Given the description of an element on the screen output the (x, y) to click on. 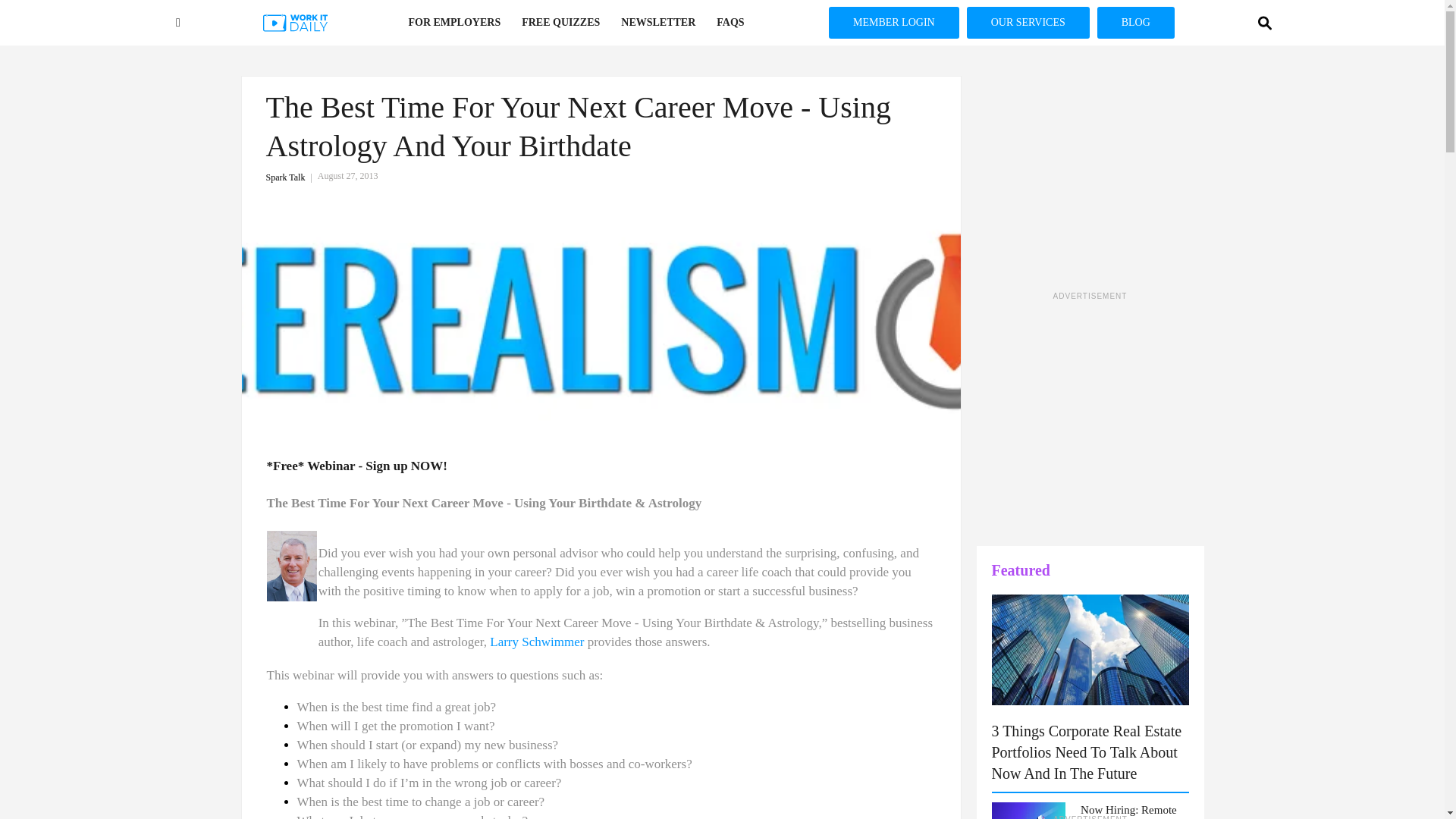
FOR EMPLOYERS (454, 22)
MEMBER LOGIN (893, 22)
FAQS (730, 22)
Larry Schwimmer (536, 641)
OUR SERVICES (1027, 22)
NEWSLETTER (658, 22)
FREE QUIZZES (560, 22)
Spark Talk (290, 176)
BLOG (1135, 22)
